Given the description of an element on the screen output the (x, y) to click on. 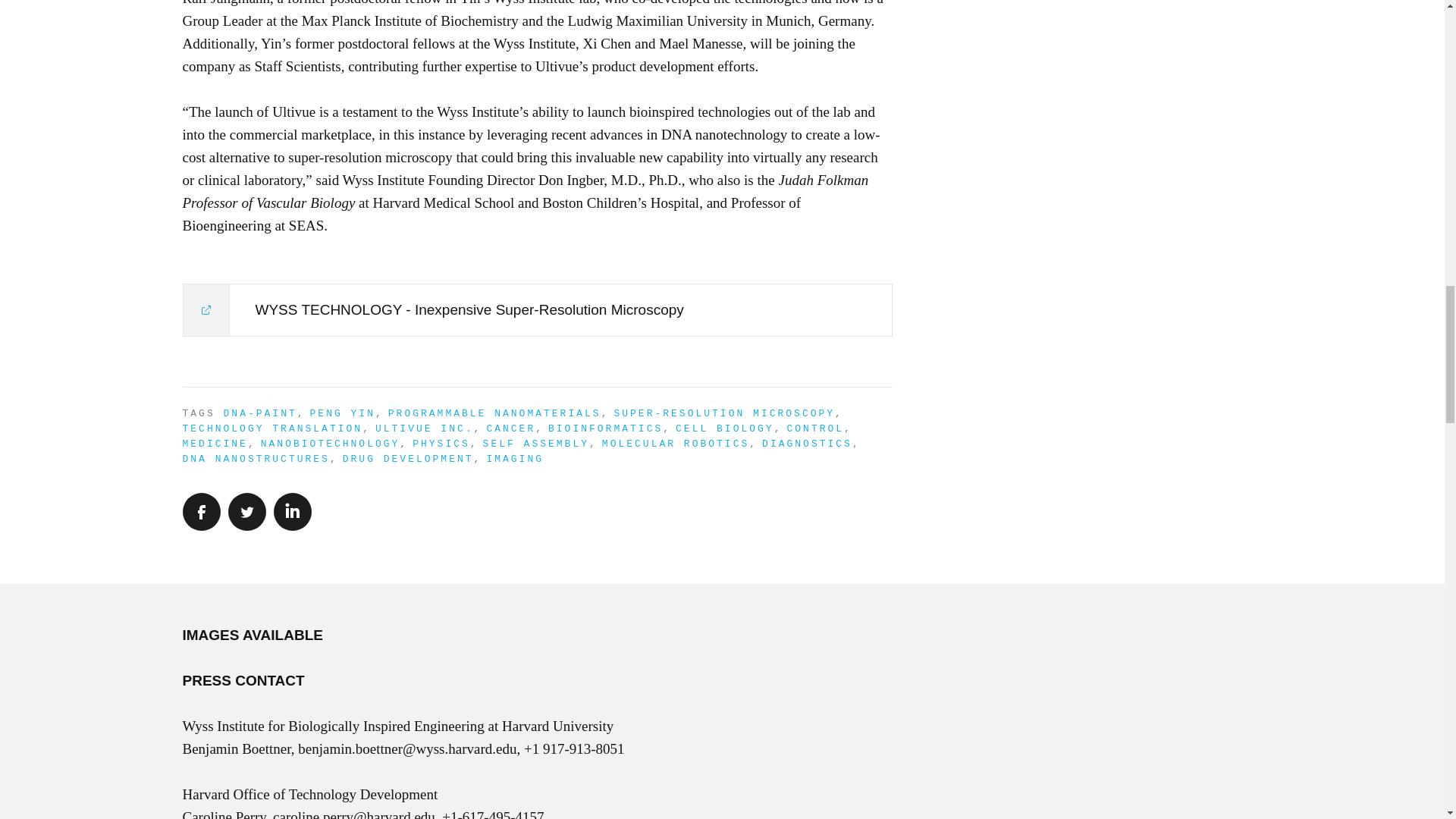
PENG YIN (342, 413)
ULTIVUE INC. (424, 428)
TECHNOLOGY TRANSLATION (272, 428)
SUPER-RESOLUTION MICROSCOPY (723, 413)
PROGRAMMABLE NANOMATERIALS (494, 413)
WYSS TECHNOLOGY - Inexpensive Super-Resolution Microscopy (536, 309)
DNA-PAINT (260, 413)
